Given the description of an element on the screen output the (x, y) to click on. 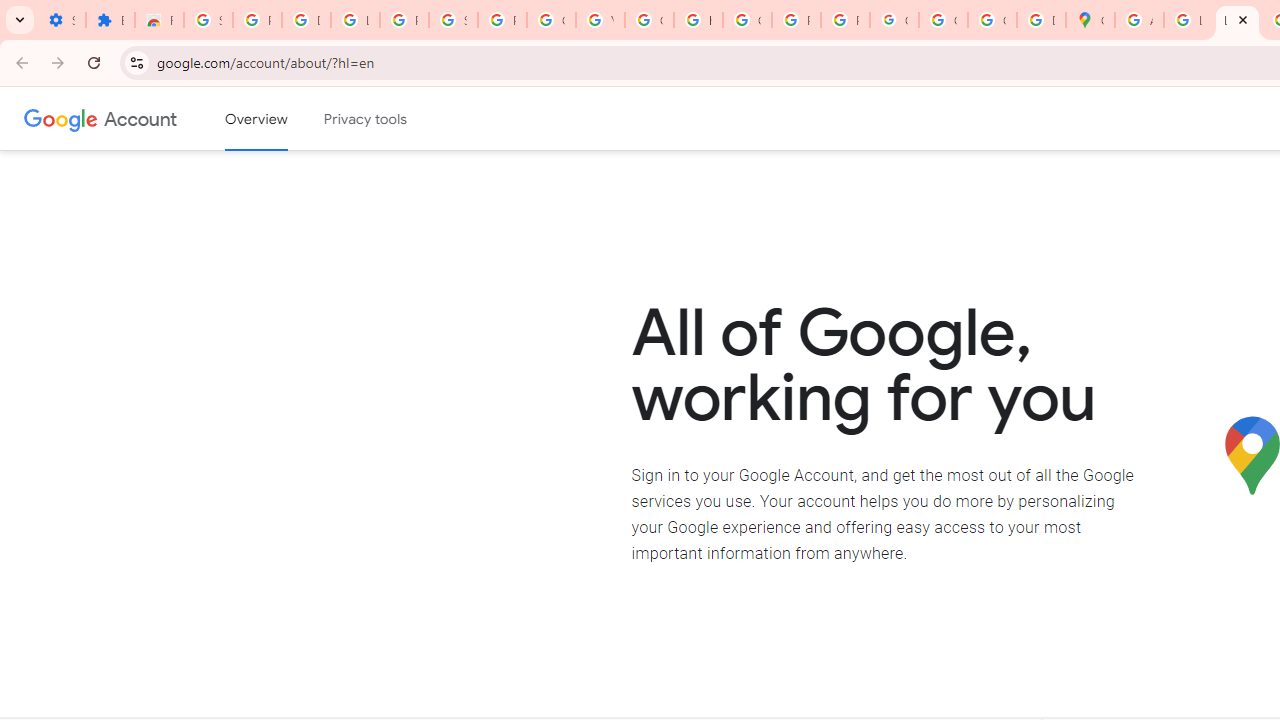
Google Account overview (256, 119)
Google Account (551, 20)
https://scholar.google.com/ (698, 20)
Google logo (61, 118)
Delete photos & videos - Computer - Google Photos Help (306, 20)
